Given the description of an element on the screen output the (x, y) to click on. 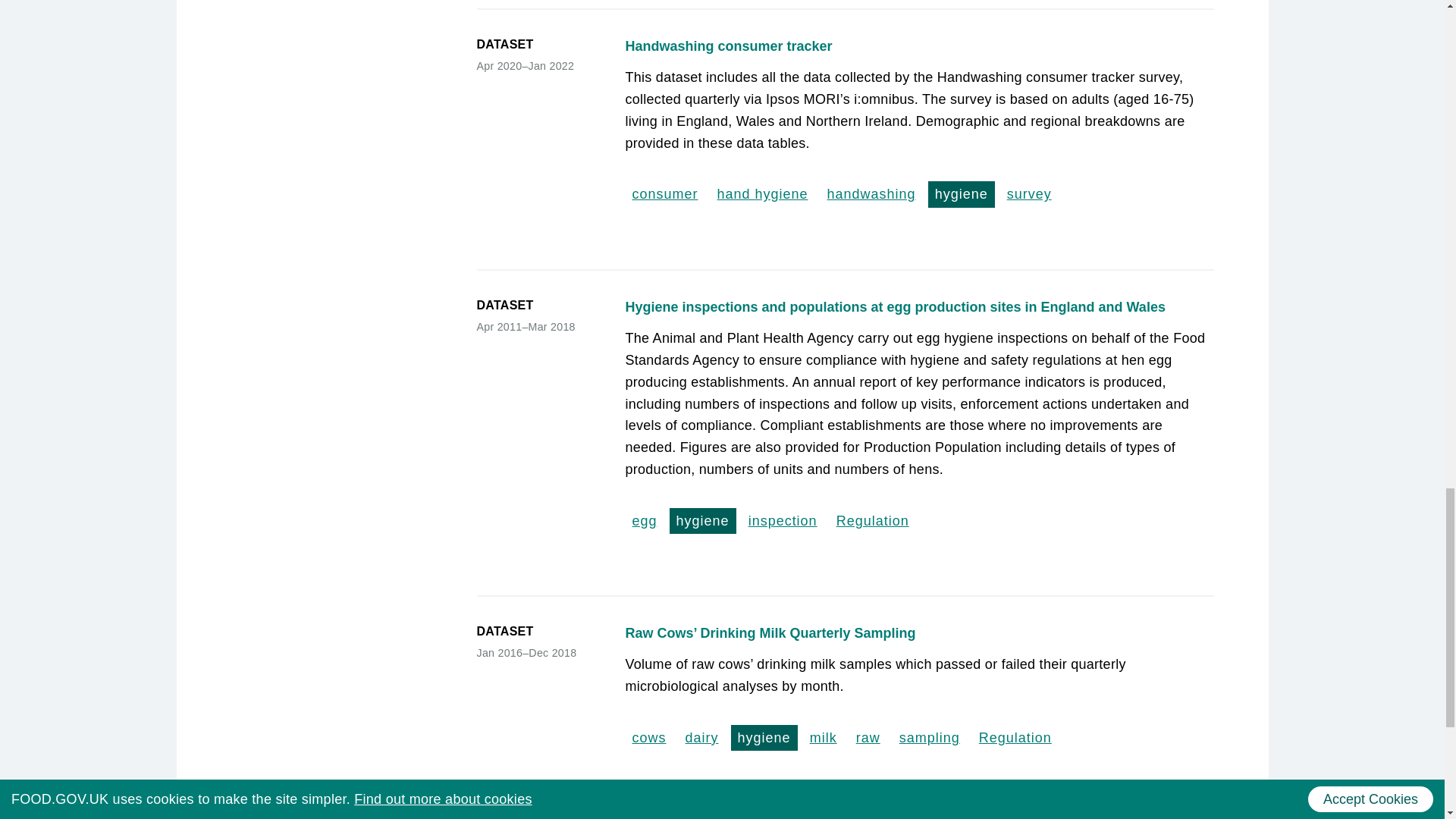
handwashing (872, 193)
dairy (701, 737)
sampling (929, 737)
cows (648, 737)
milk (823, 737)
consumer (664, 193)
Handwashing consumer tracker (918, 46)
egg (643, 520)
survey (1029, 193)
raw (867, 737)
hand hygiene (762, 193)
inspection (782, 520)
Regulation (1015, 737)
Regulation (872, 520)
